Given the description of an element on the screen output the (x, y) to click on. 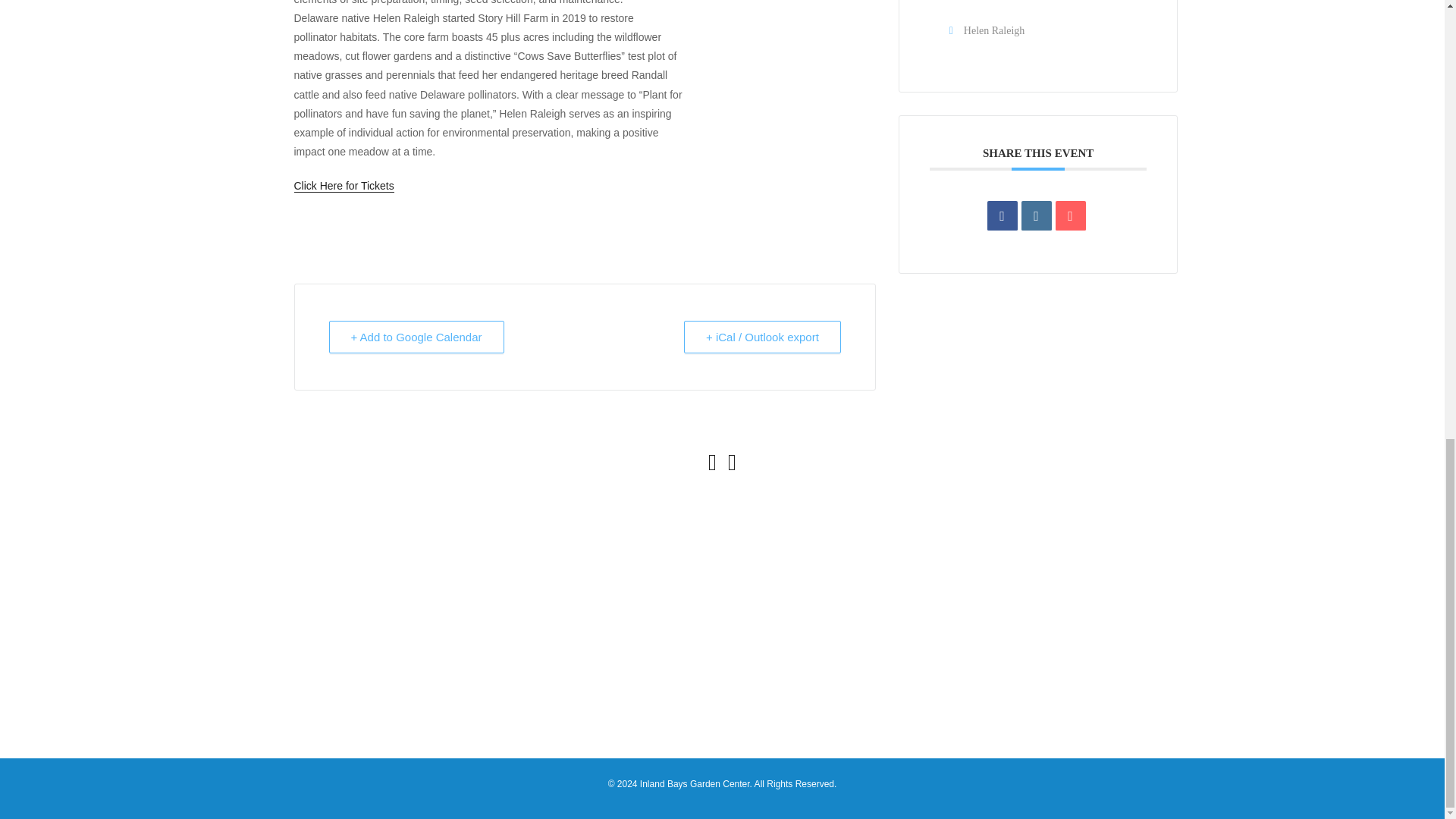
Click Here for Tickets (344, 185)
Share on Facebook (1002, 215)
Email (1070, 215)
Linkedin (1036, 215)
